Given the description of an element on the screen output the (x, y) to click on. 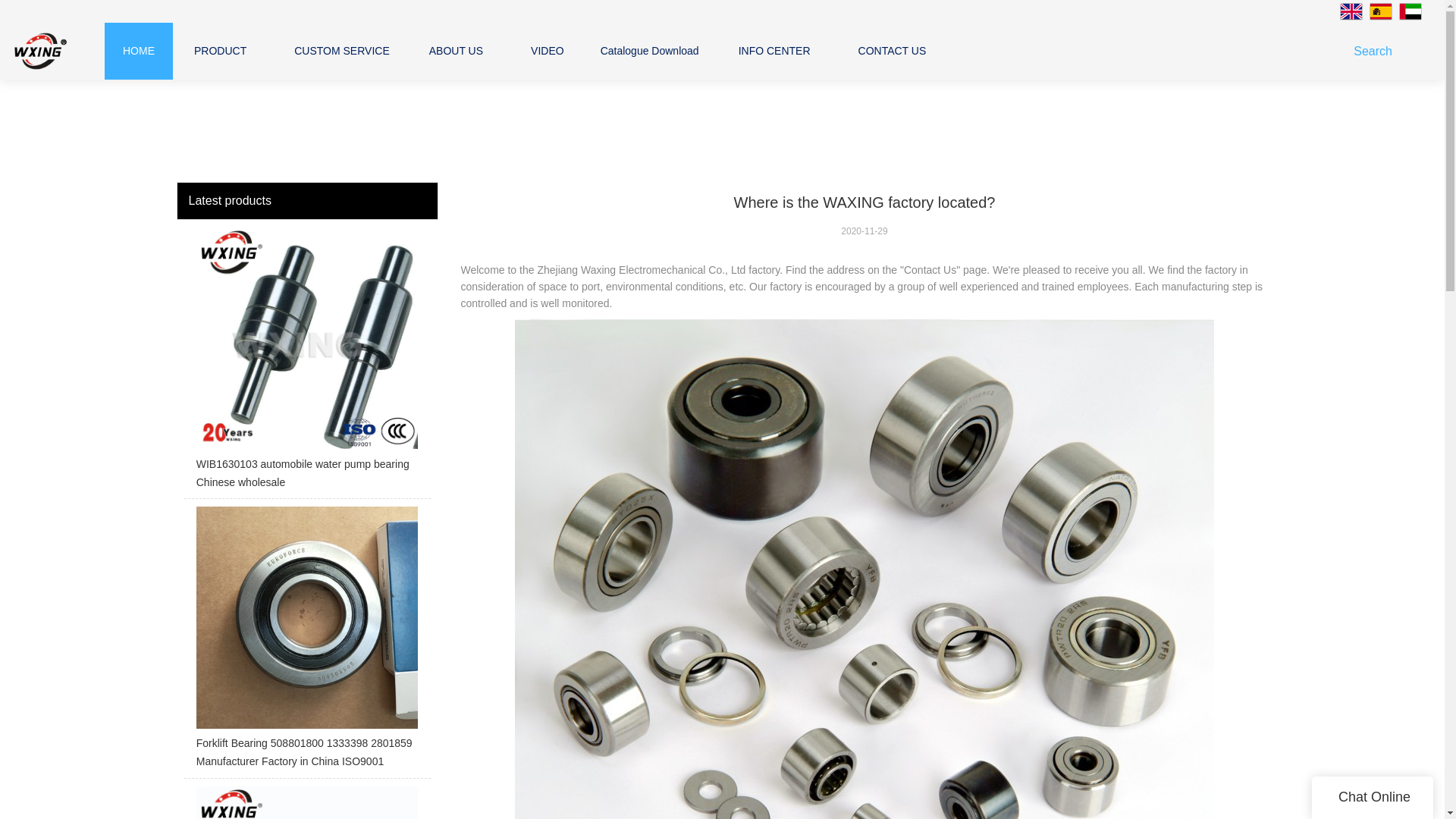
Search   (1375, 50)
VIDEO (547, 50)
ABOUT US (456, 50)
CONTACT US (892, 50)
HOME (138, 50)
INFO CENTER (774, 50)
WIB1630103 automobile water pump bearing Chinese wholesale (306, 362)
English (1350, 11)
PRODUCT (219, 50)
Catalogue Download (648, 50)
CUSTOM SERVICE (342, 50)
